Given the description of an element on the screen output the (x, y) to click on. 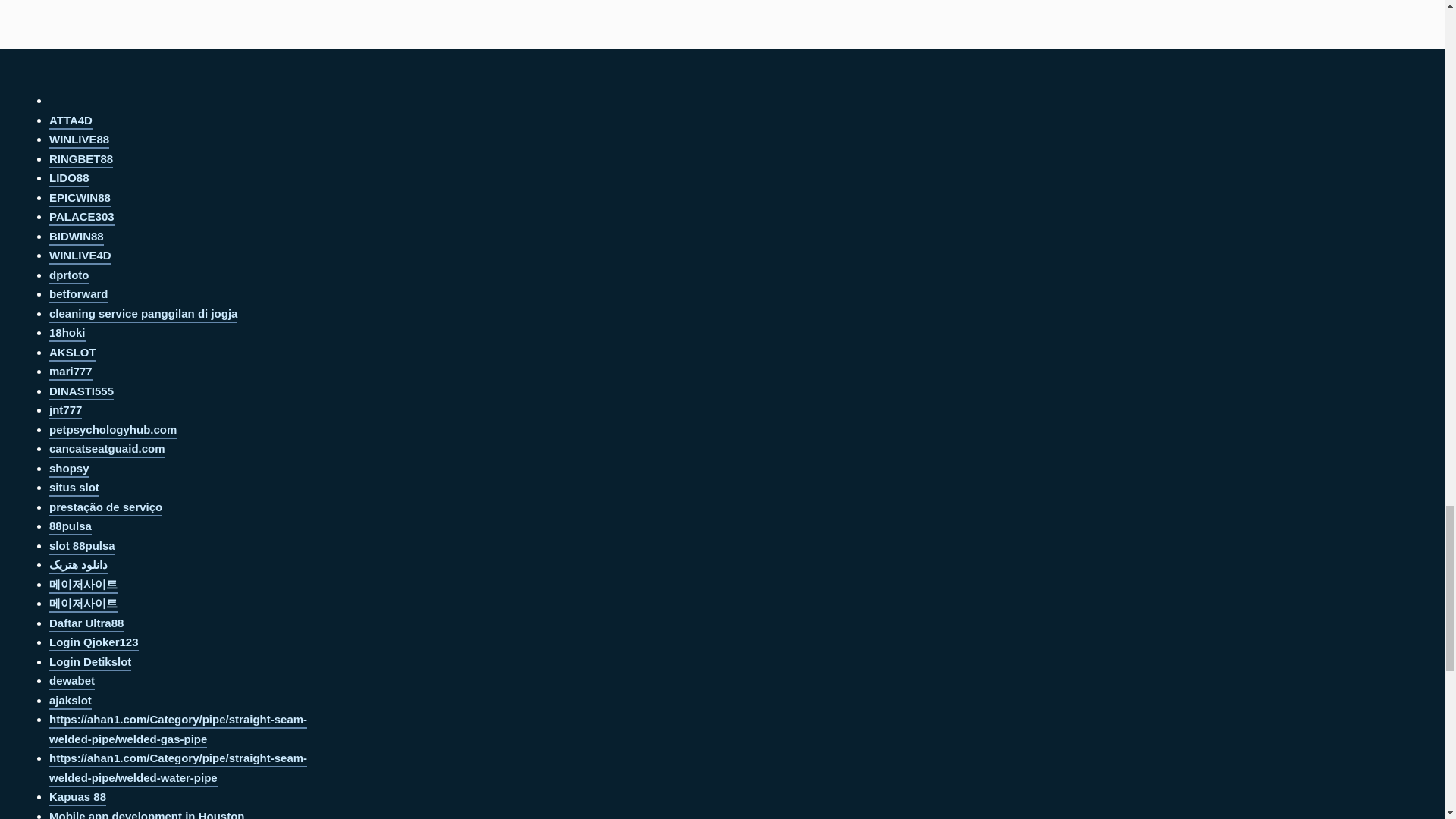
RINGBET88 (81, 160)
AKSLOT (72, 353)
betforward (78, 295)
WINLIVE88 (79, 140)
DINASTI555 (81, 392)
LIDO88 (68, 179)
WINLIVE4D (80, 256)
dprtoto (68, 276)
cleaning service panggilan di jogja (143, 314)
BIDWIN88 (76, 237)
EPICWIN88 (79, 198)
PALACE303 (82, 217)
ATTA4D (71, 121)
mari777 (71, 372)
18hoki (67, 333)
